Given the description of an element on the screen output the (x, y) to click on. 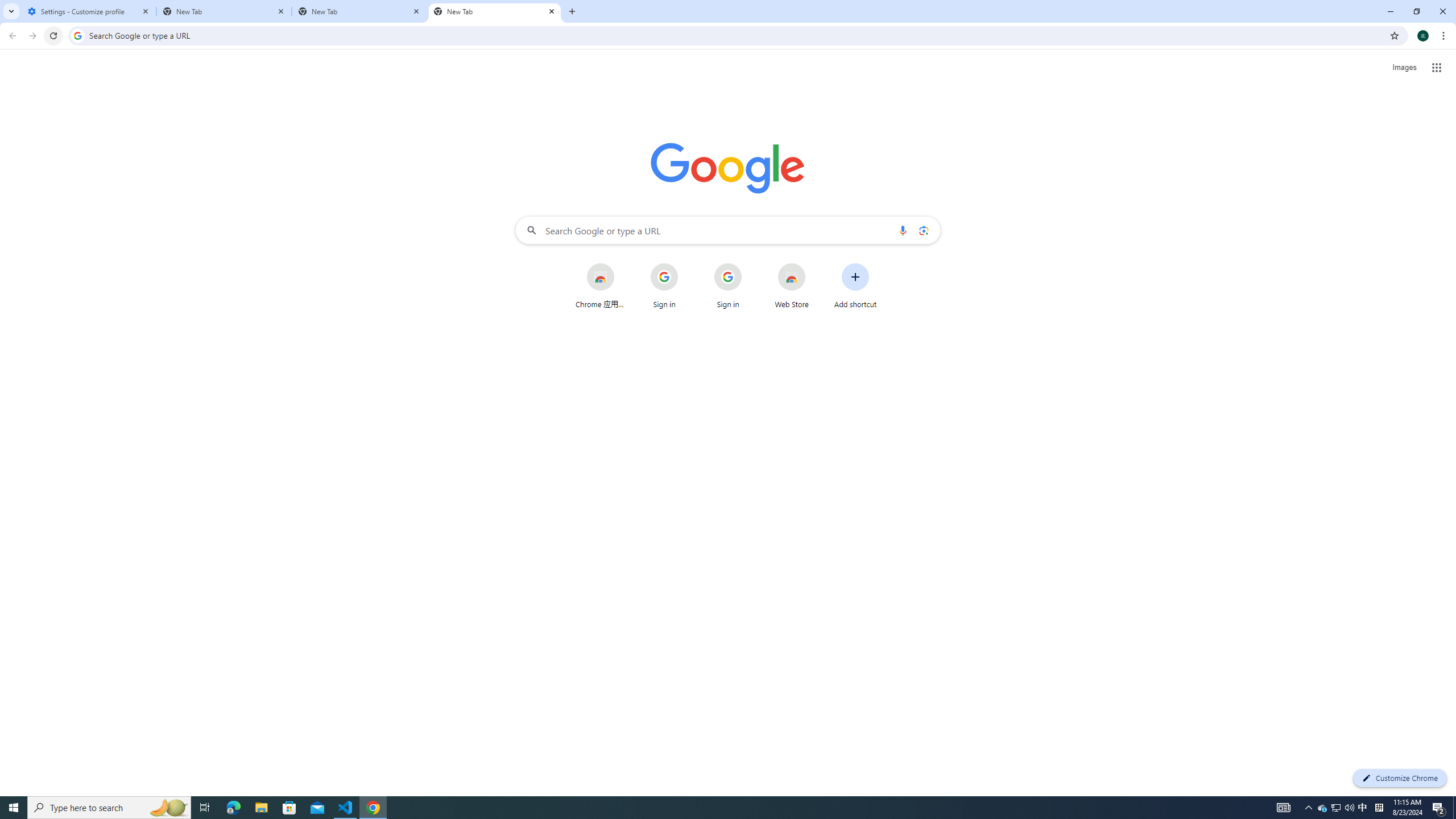
Search Google or type a URL (727, 230)
New Tab (224, 11)
New Tab (359, 11)
Web Store (792, 285)
Add shortcut (855, 285)
More actions for Sign in shortcut (750, 264)
New Tab (494, 11)
